Given the description of an element on the screen output the (x, y) to click on. 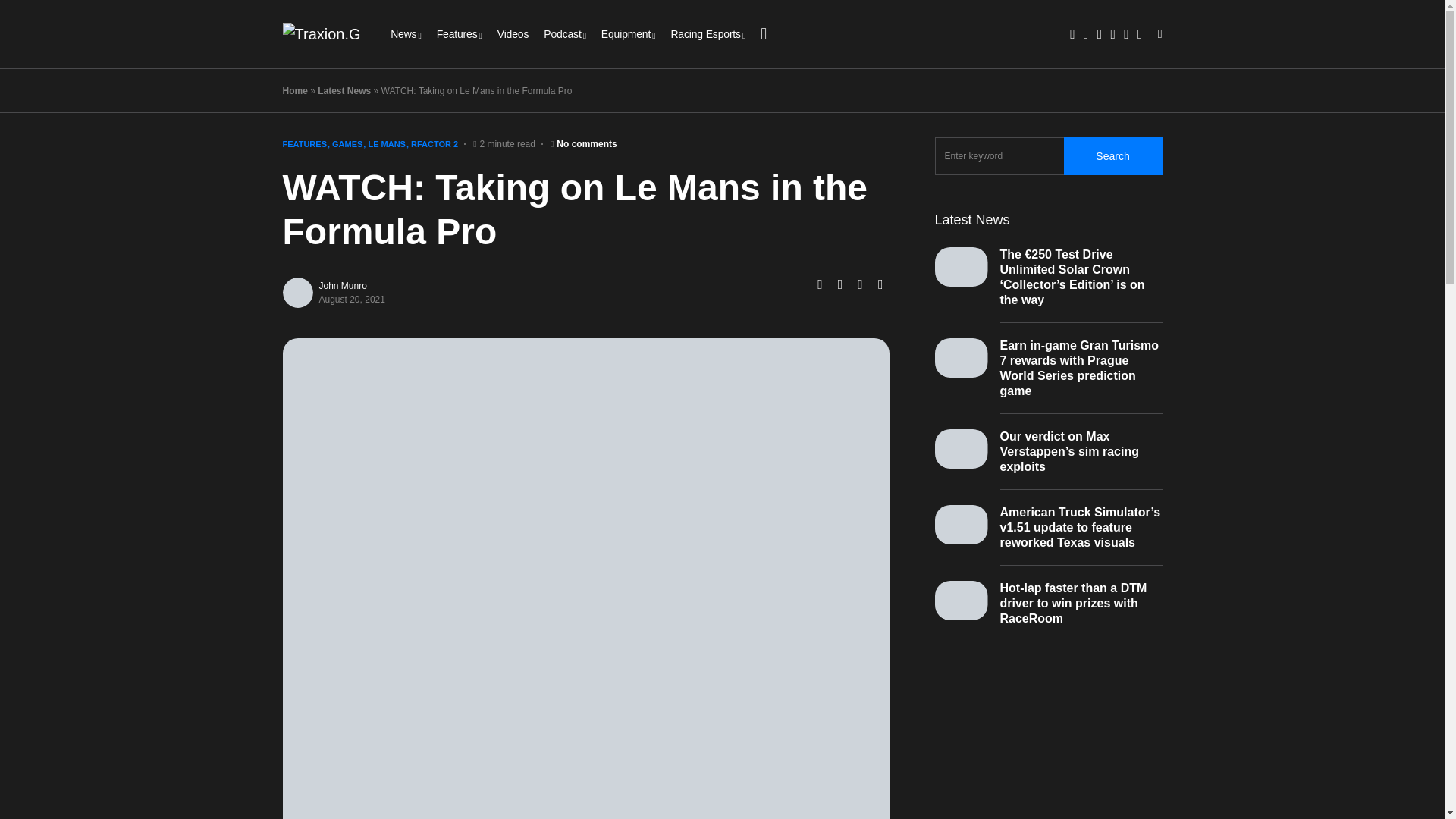
News (406, 33)
